Given the description of an element on the screen output the (x, y) to click on. 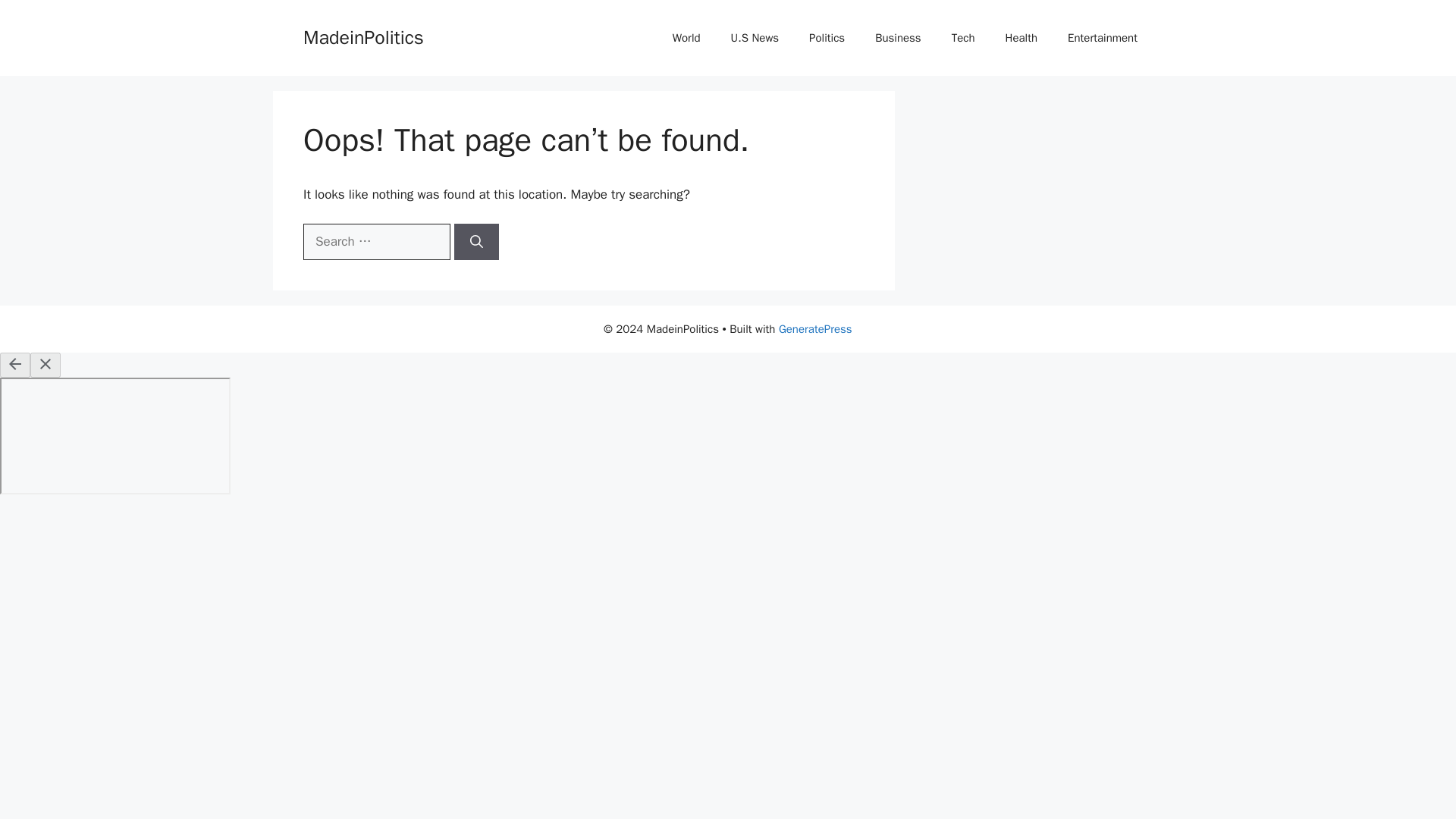
U.S News (755, 37)
Entertainment (1102, 37)
Politics (826, 37)
Health (1021, 37)
World (687, 37)
Business (898, 37)
MadeinPolitics (362, 37)
Tech (963, 37)
Search for: (375, 241)
GeneratePress (814, 328)
